Given the description of an element on the screen output the (x, y) to click on. 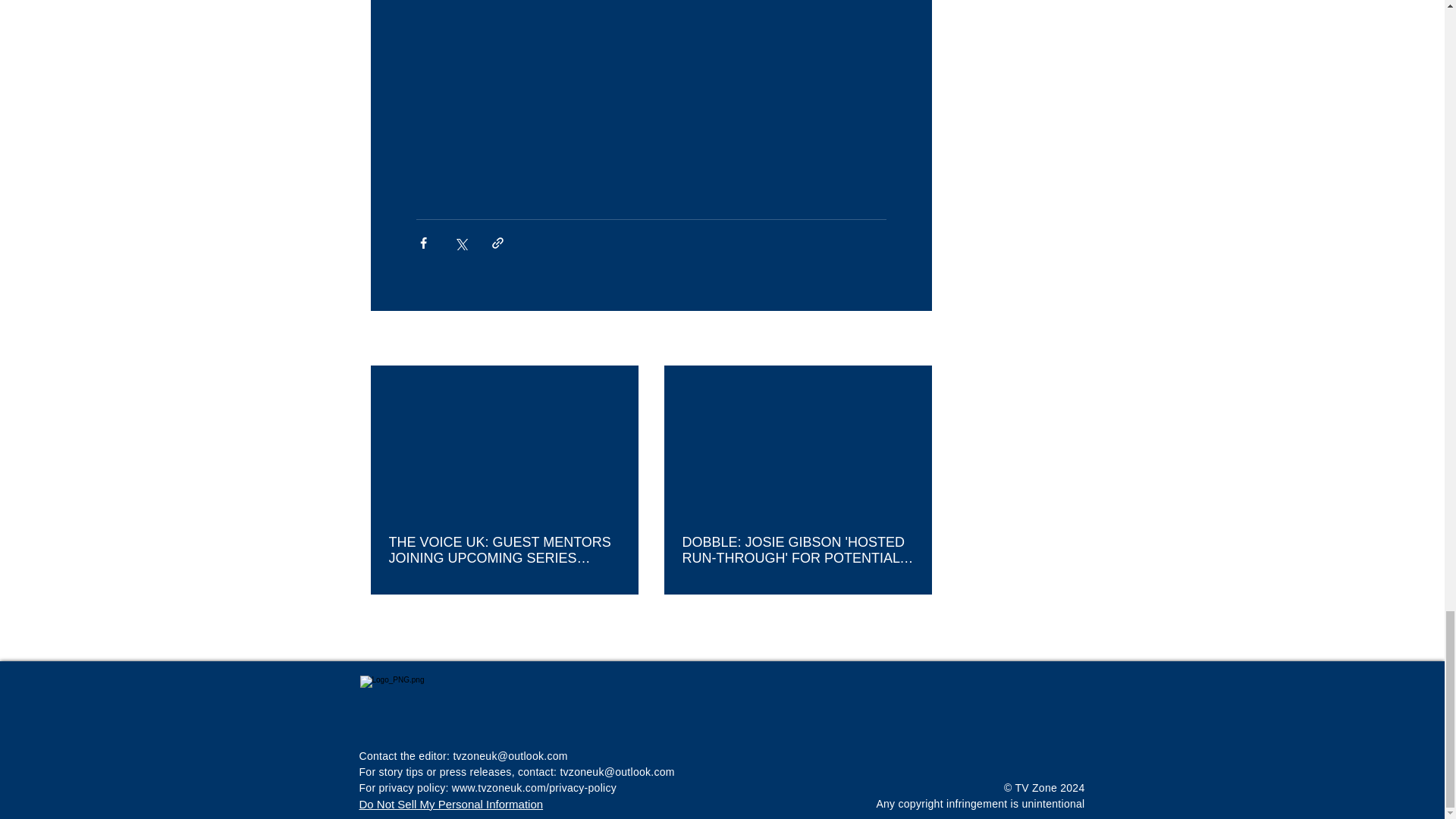
THE VOICE UK: GUEST MENTORS JOINING UPCOMING SERIES REVEALED (504, 550)
See All (914, 339)
